Given the description of an element on the screen output the (x, y) to click on. 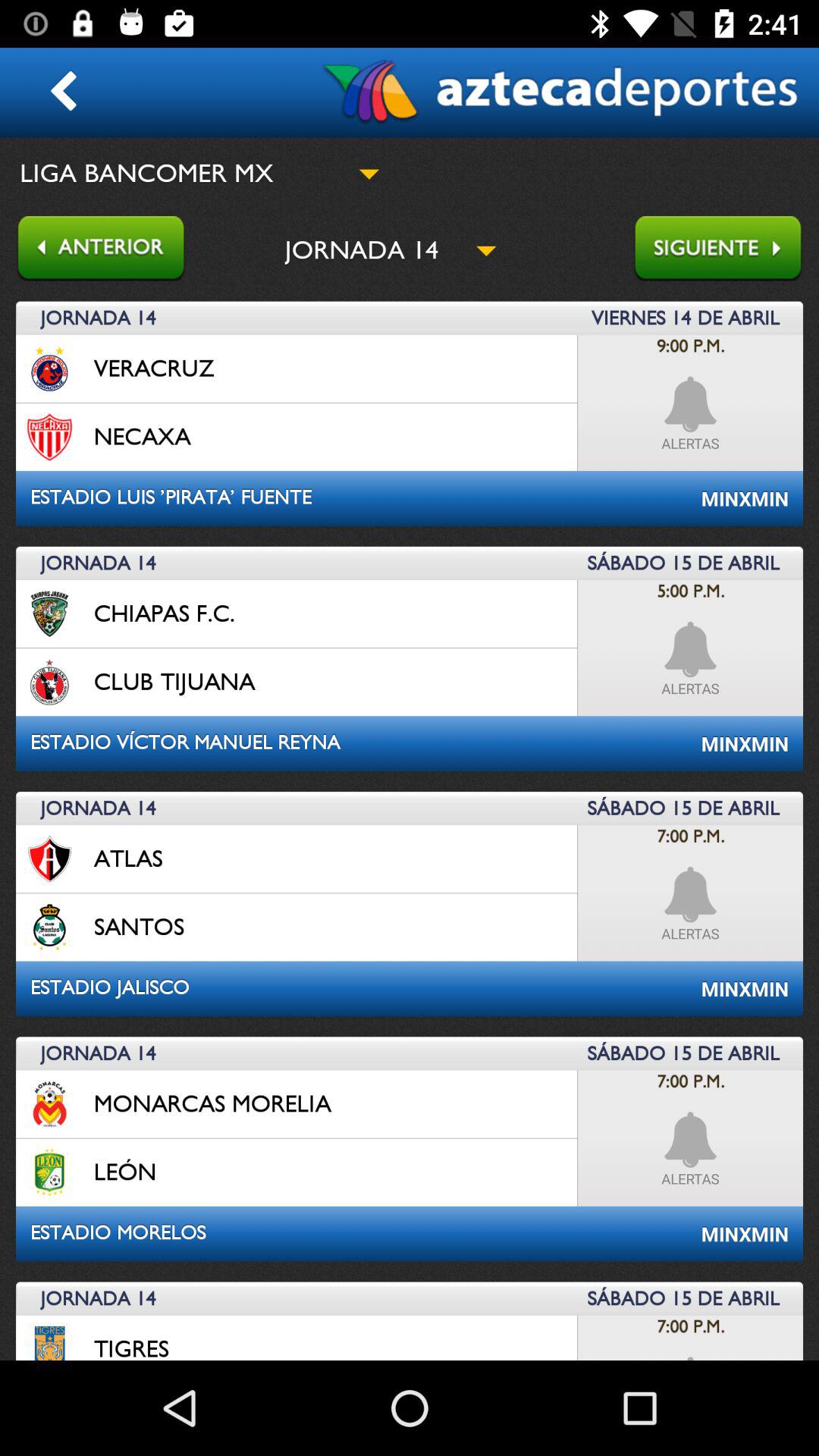
go forward (726, 249)
